Given the description of an element on the screen output the (x, y) to click on. 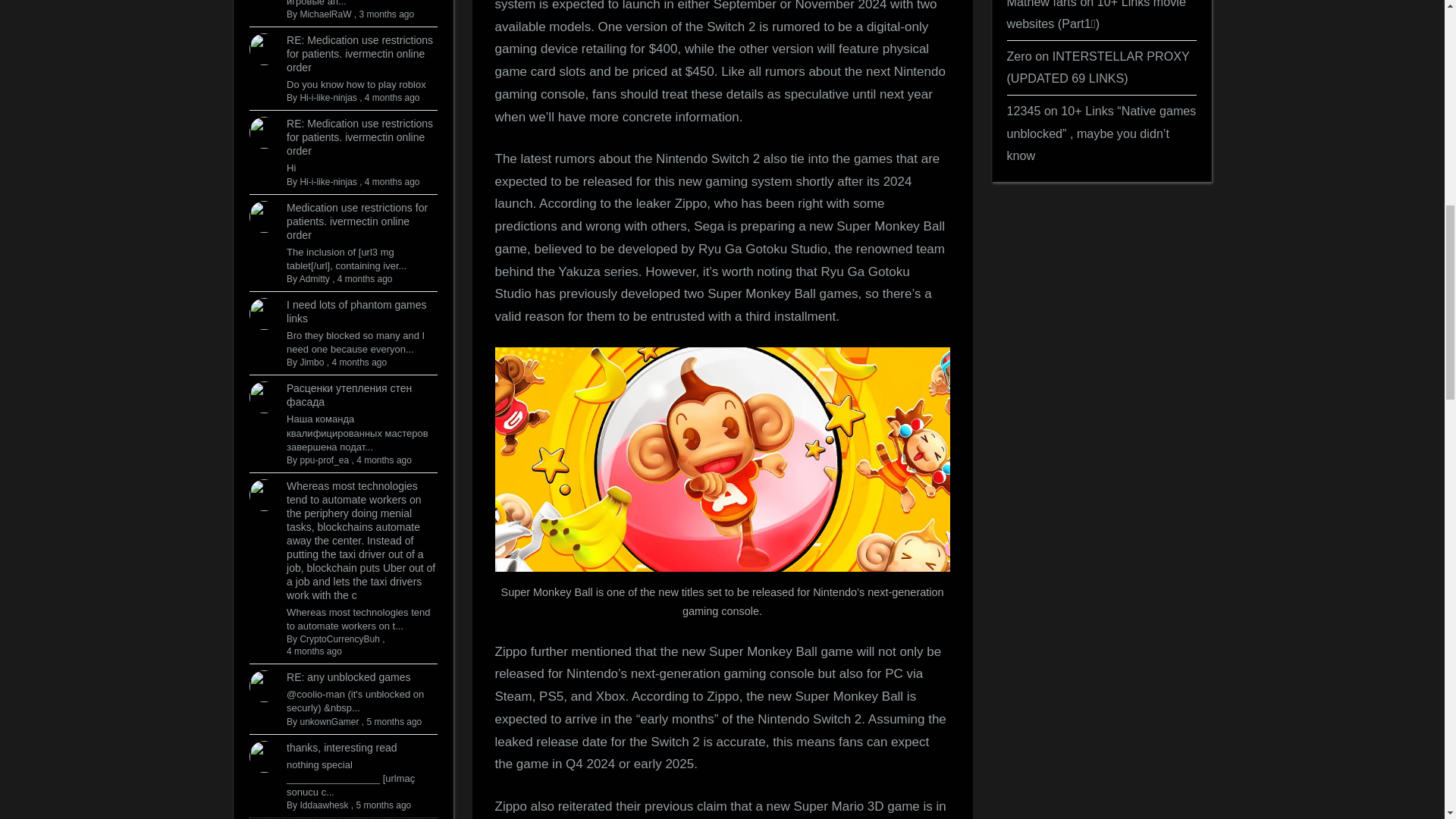
MichaelRaW (324, 14)
unkownGamer (328, 721)
Admitty (314, 278)
Iddaawhesk (323, 805)
CryptoCurrencyBuh (338, 638)
Hi-i-like-ninjas (327, 97)
Hi-i-like-ninjas (327, 181)
Jimbo (311, 362)
